Given the description of an element on the screen output the (x, y) to click on. 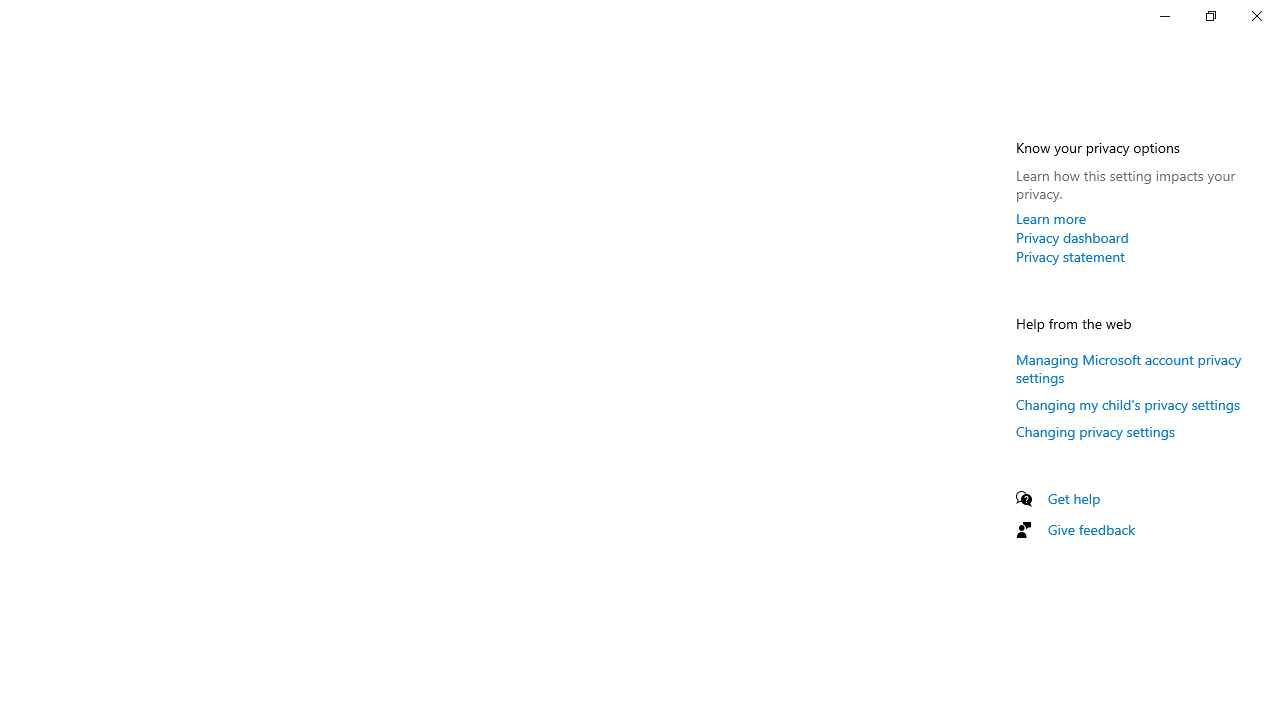
Privacy statement (1070, 255)
Changing my child's privacy settings (1128, 404)
Learn more (1051, 218)
Changing privacy settings (1095, 430)
Privacy dashboard (1072, 237)
Managing Microsoft account privacy settings (1128, 368)
